Given the description of an element on the screen output the (x, y) to click on. 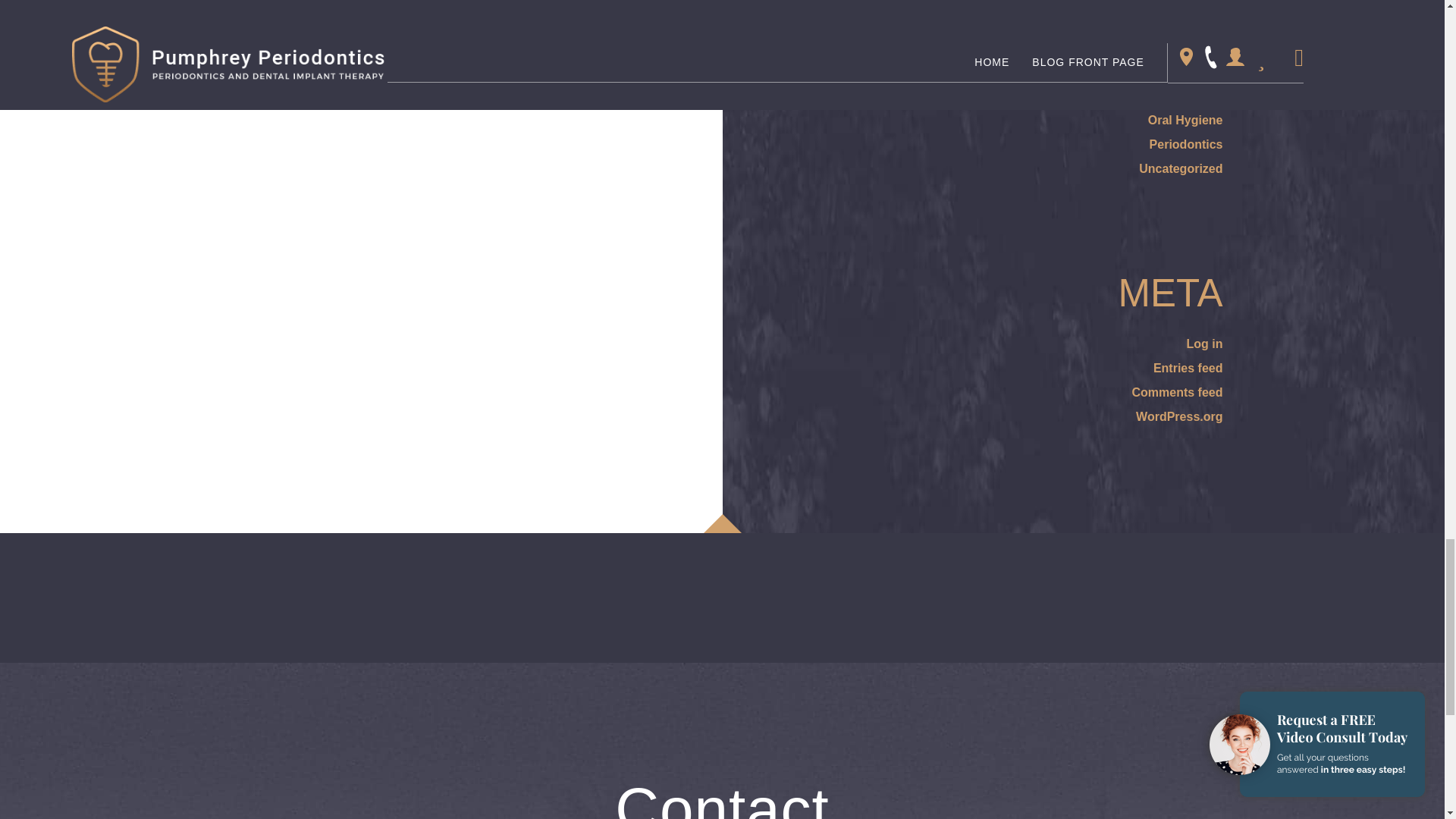
Pumhprey Perio (722, 725)
